Given the description of an element on the screen output the (x, y) to click on. 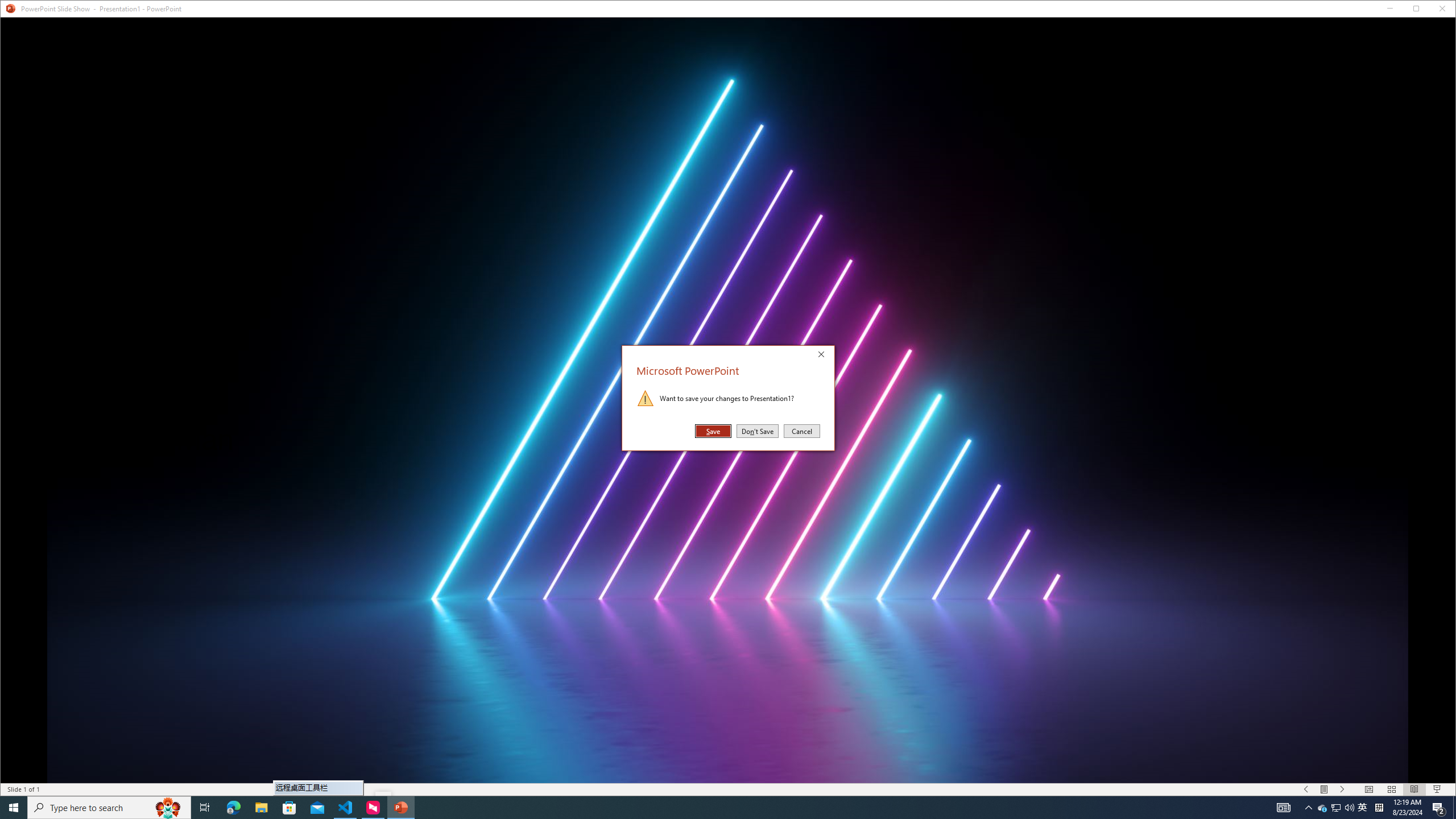
Slide Show Previous On (1306, 789)
PowerPoint - 1 running window (400, 807)
Microsoft Store (289, 807)
User Promoted Notification Area (1336, 807)
Cancel (801, 431)
File Explorer (261, 807)
Task View (204, 807)
Maximize (1362, 807)
Type here to search (1335, 807)
Start (1432, 11)
